Given the description of an element on the screen output the (x, y) to click on. 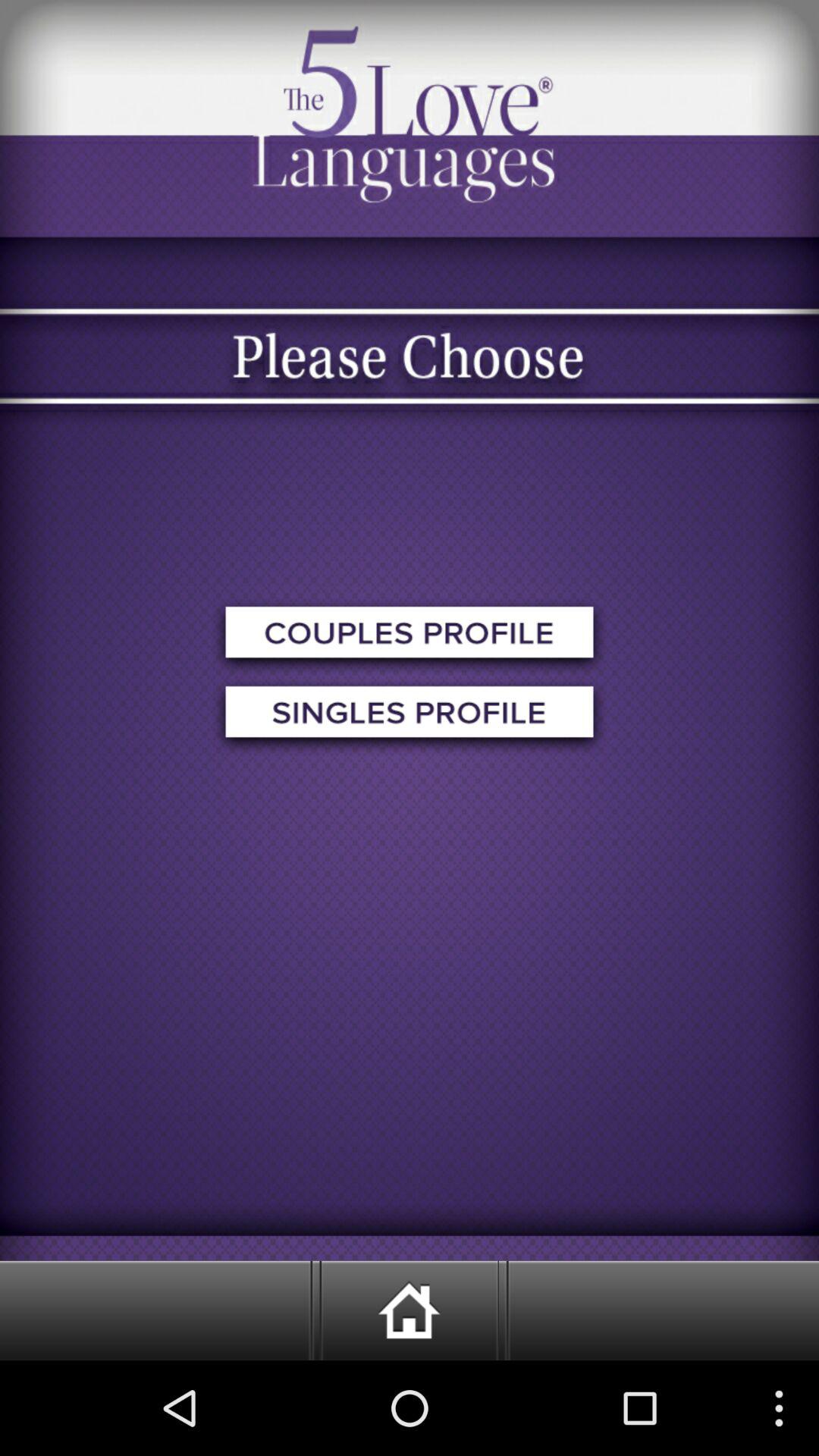
open couples profile list (409, 636)
